Given the description of an element on the screen output the (x, y) to click on. 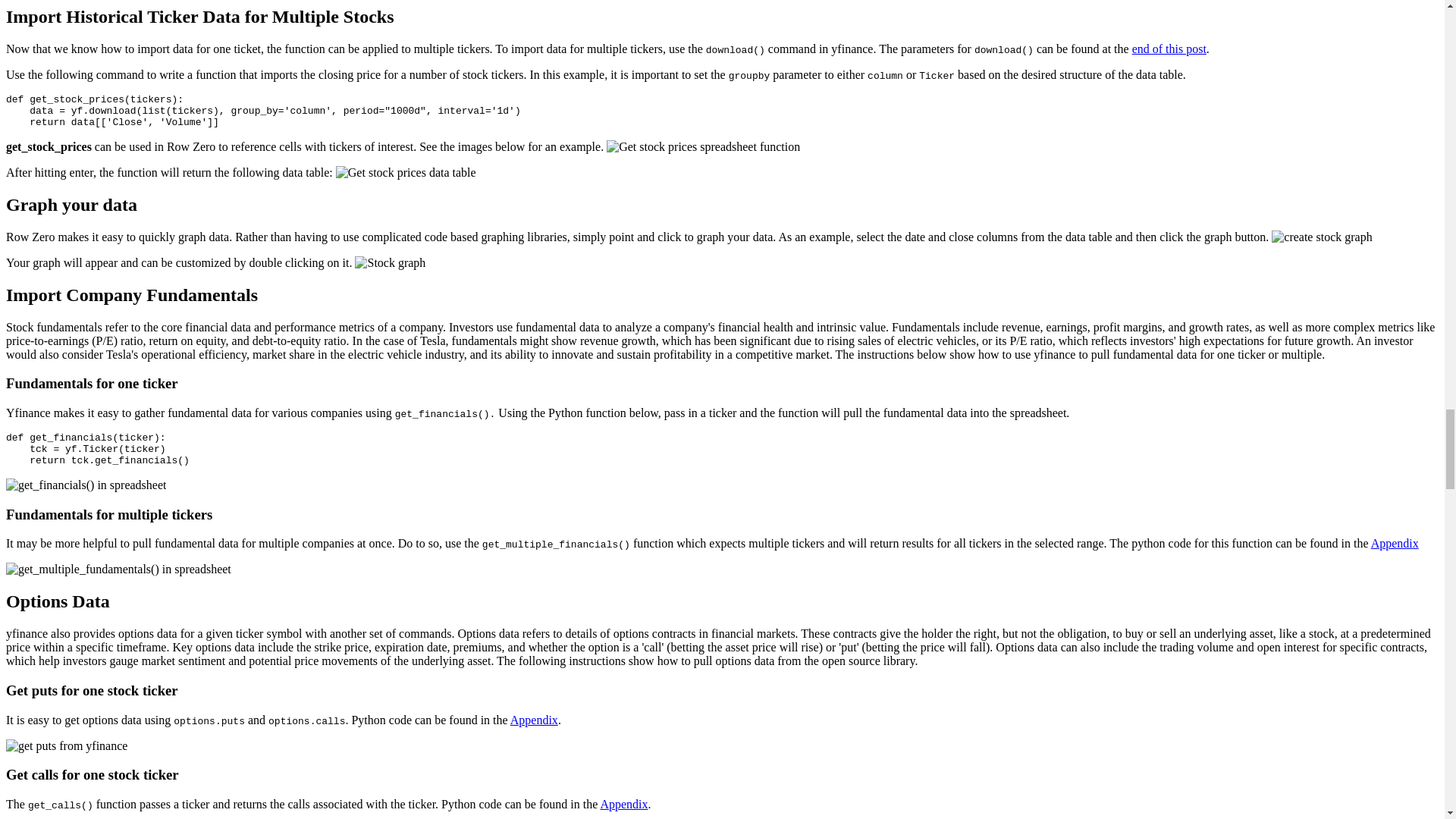
end of this post (1169, 48)
Appendix (534, 719)
Appendix (1394, 543)
Appendix (623, 803)
